Given the description of an element on the screen output the (x, y) to click on. 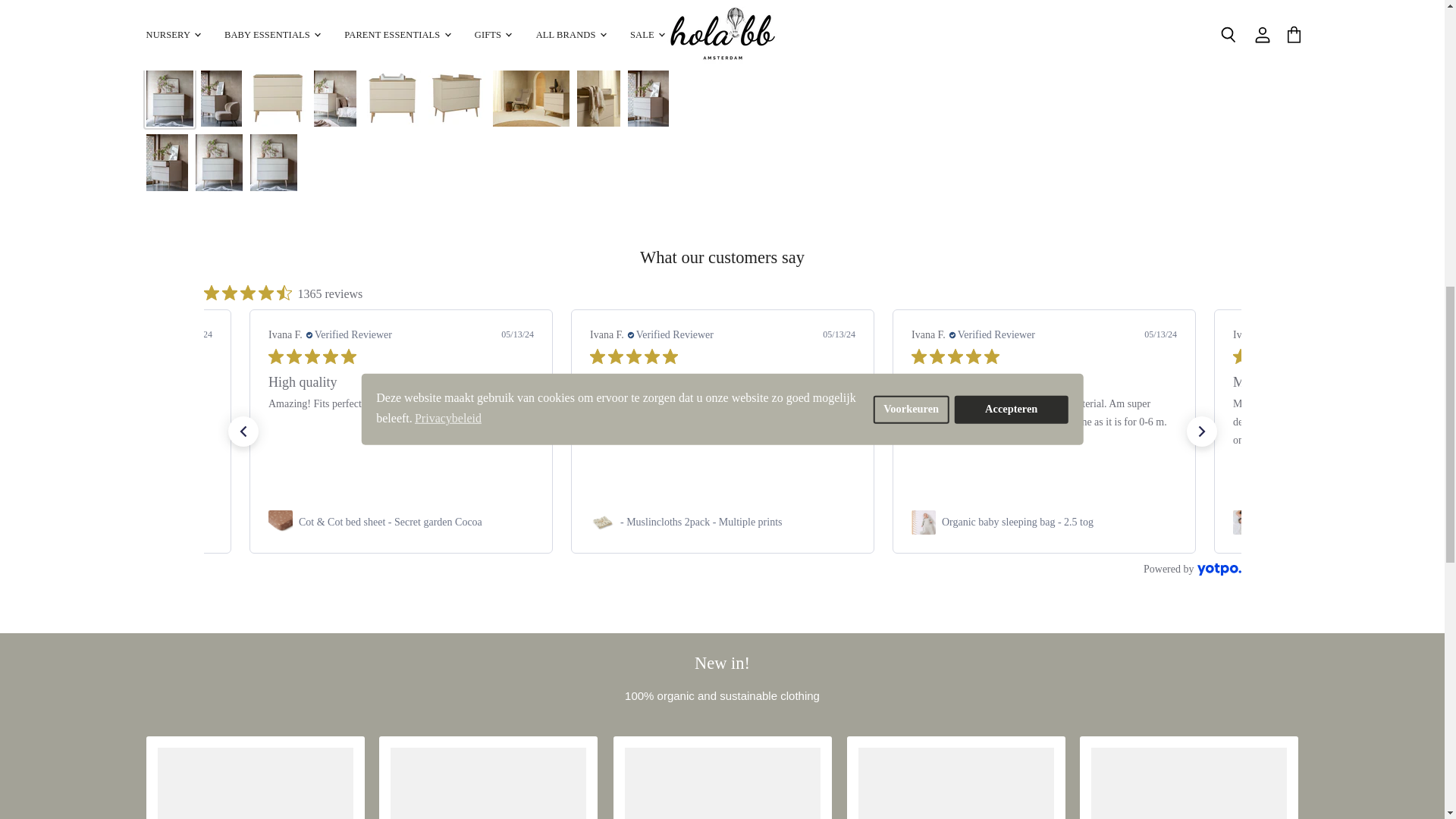
- Muslincloths 2pack - Multiple prints (700, 522)
Organic baby sleeping bag - 2.5 tog (1017, 522)
